Given the description of an element on the screen output the (x, y) to click on. 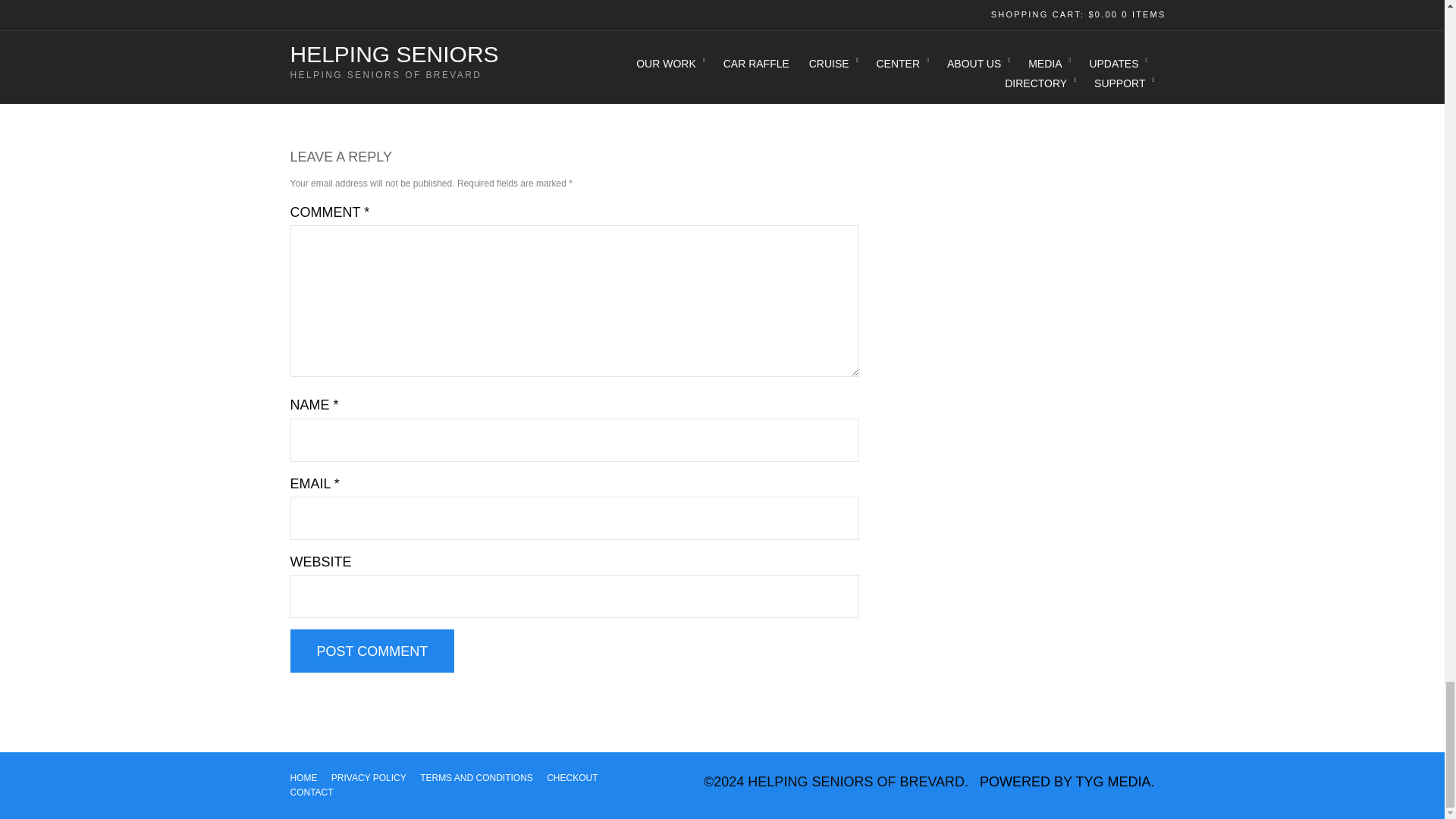
Post Comment (371, 650)
